Given the description of an element on the screen output the (x, y) to click on. 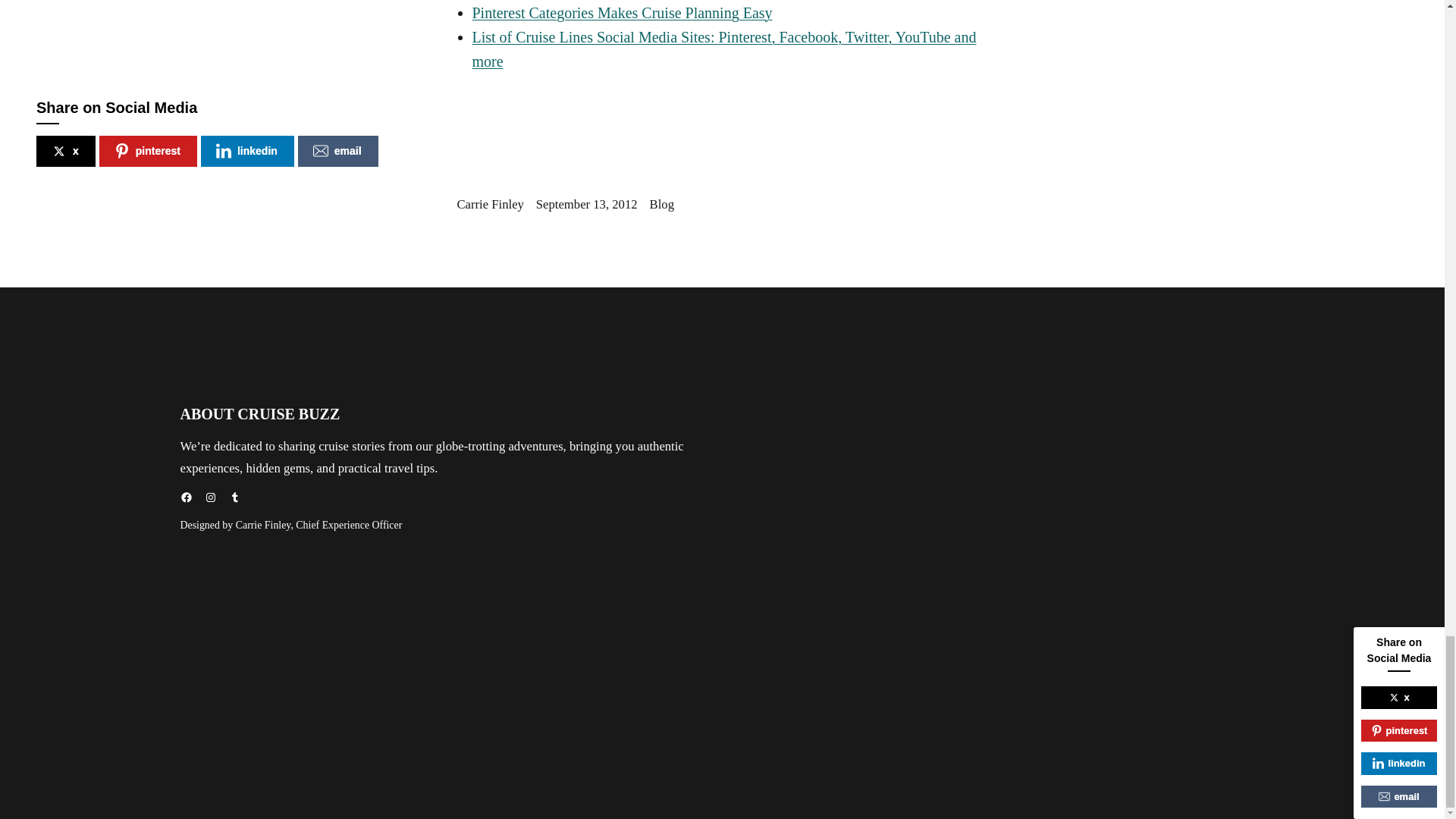
Tumblr (234, 497)
x (66, 151)
email (338, 151)
Carrie Finley (489, 204)
Facebook (186, 497)
pinterest (147, 151)
Instagram (210, 497)
September 13, 2012 (586, 204)
linkedin (247, 151)
Blog (661, 204)
Pinterest Categories Makes Cruise Planning Easy (621, 12)
